Given the description of an element on the screen output the (x, y) to click on. 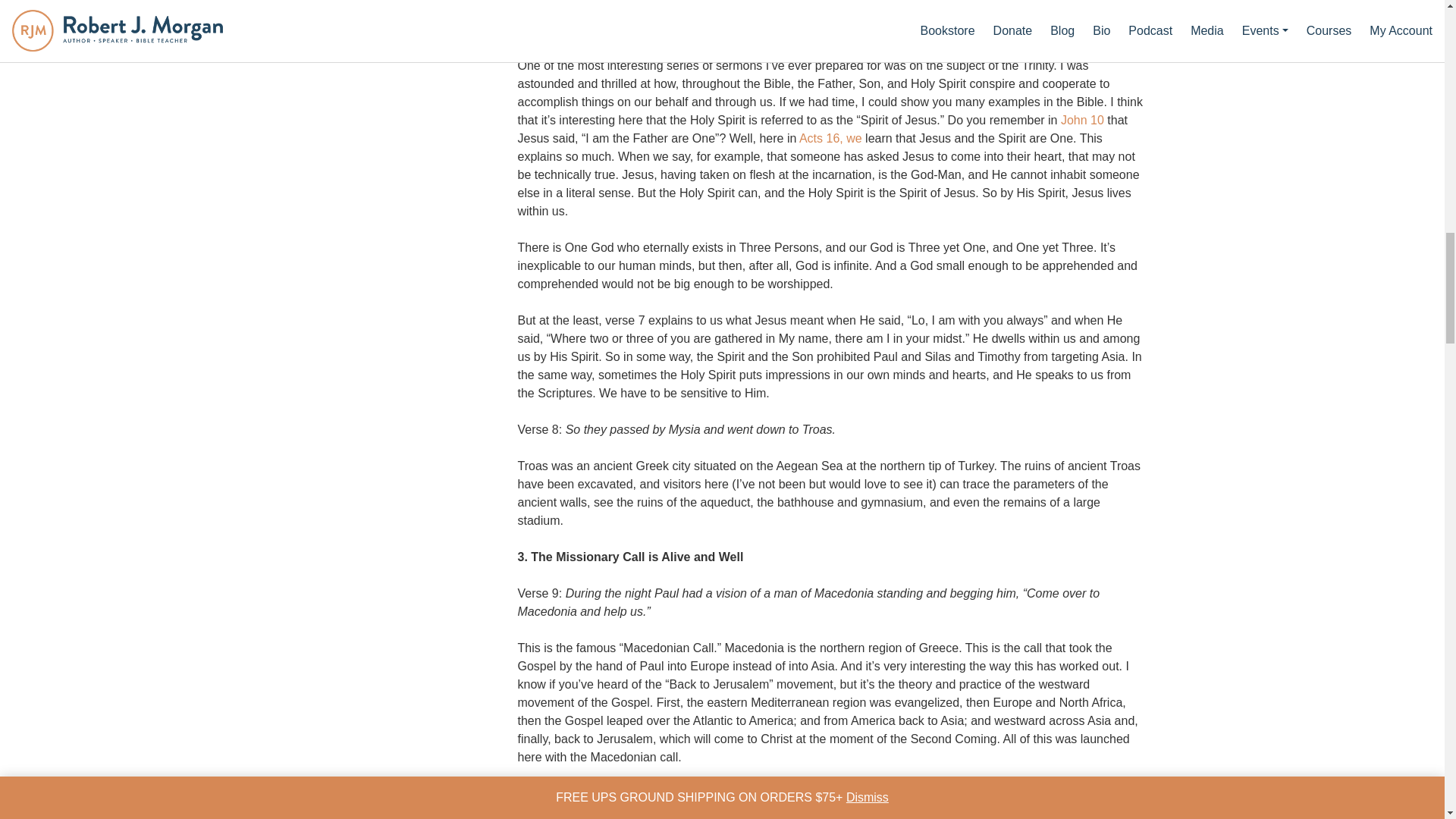
John 10 (1082, 119)
Acts 16, we (830, 137)
